Given the description of an element on the screen output the (x, y) to click on. 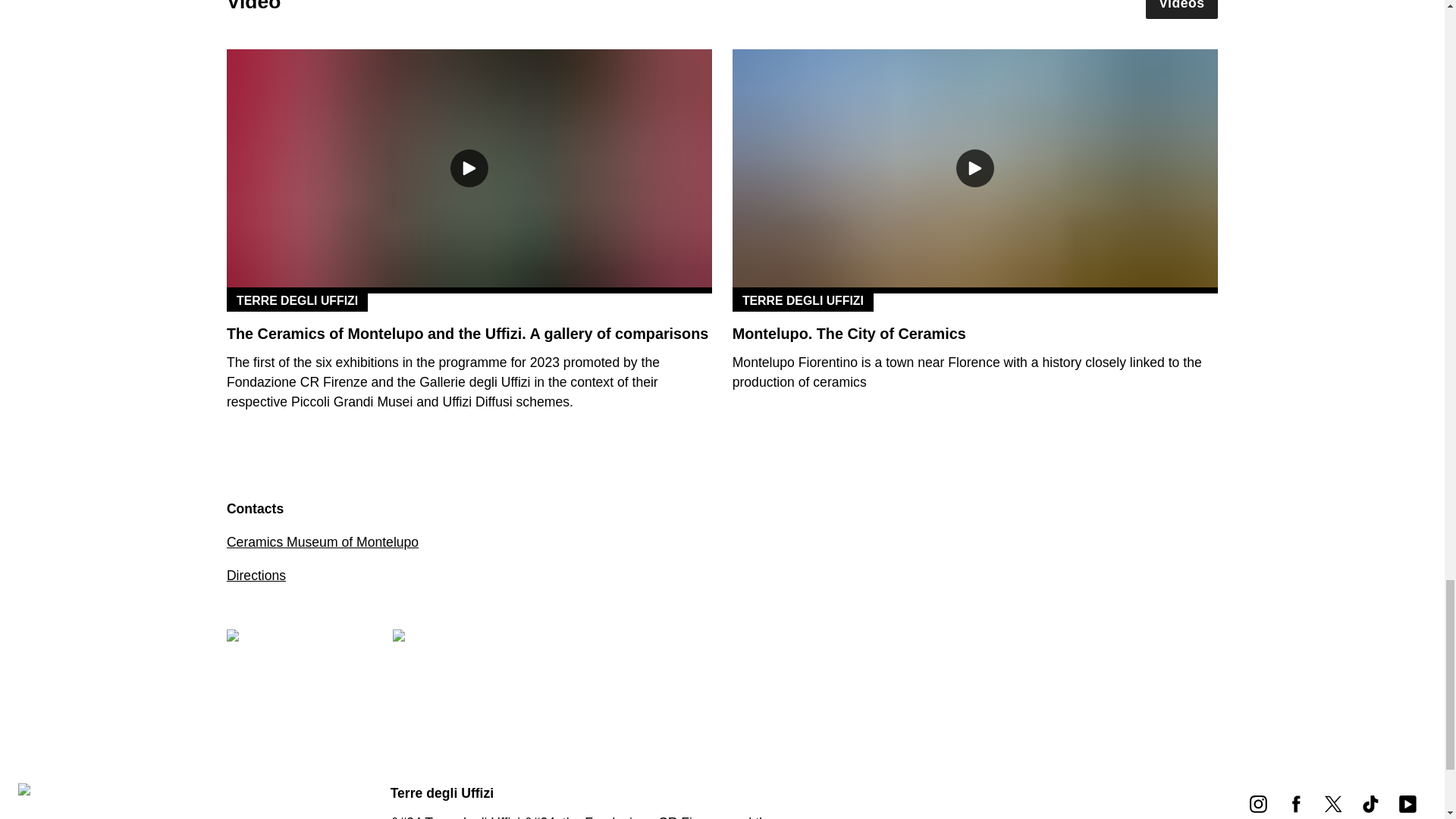
Videos (1181, 9)
